Given the description of an element on the screen output the (x, y) to click on. 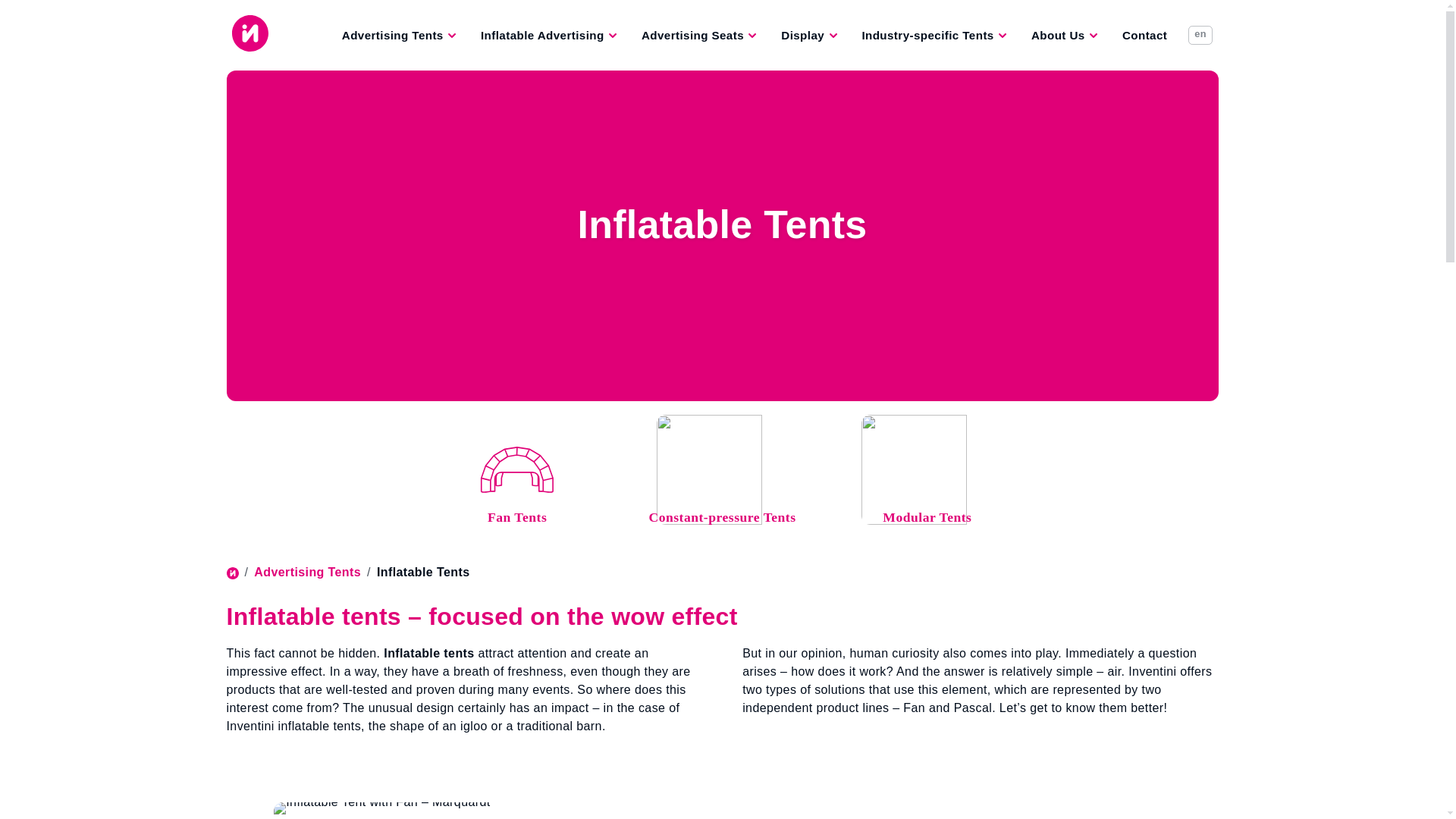
Inflatable Advertising (548, 35)
Advertising Tents (399, 35)
Advertising Tents (399, 35)
Inflatable Advertising (548, 35)
Advertising Seats (698, 35)
